Given the description of an element on the screen output the (x, y) to click on. 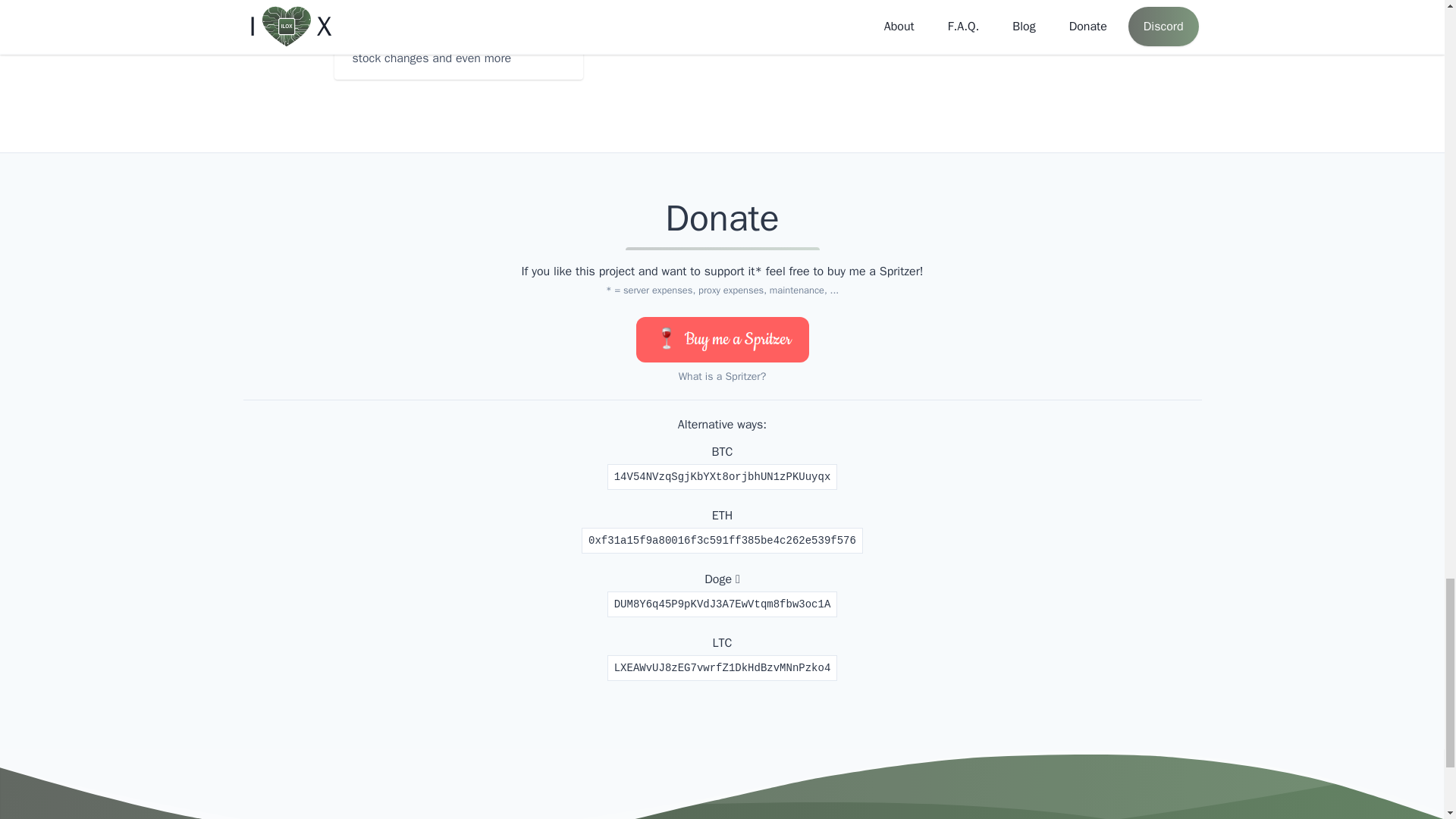
What is a Spritzer? (722, 376)
Why is there no white wine emoji?! (721, 339)
